Given the description of an element on the screen output the (x, y) to click on. 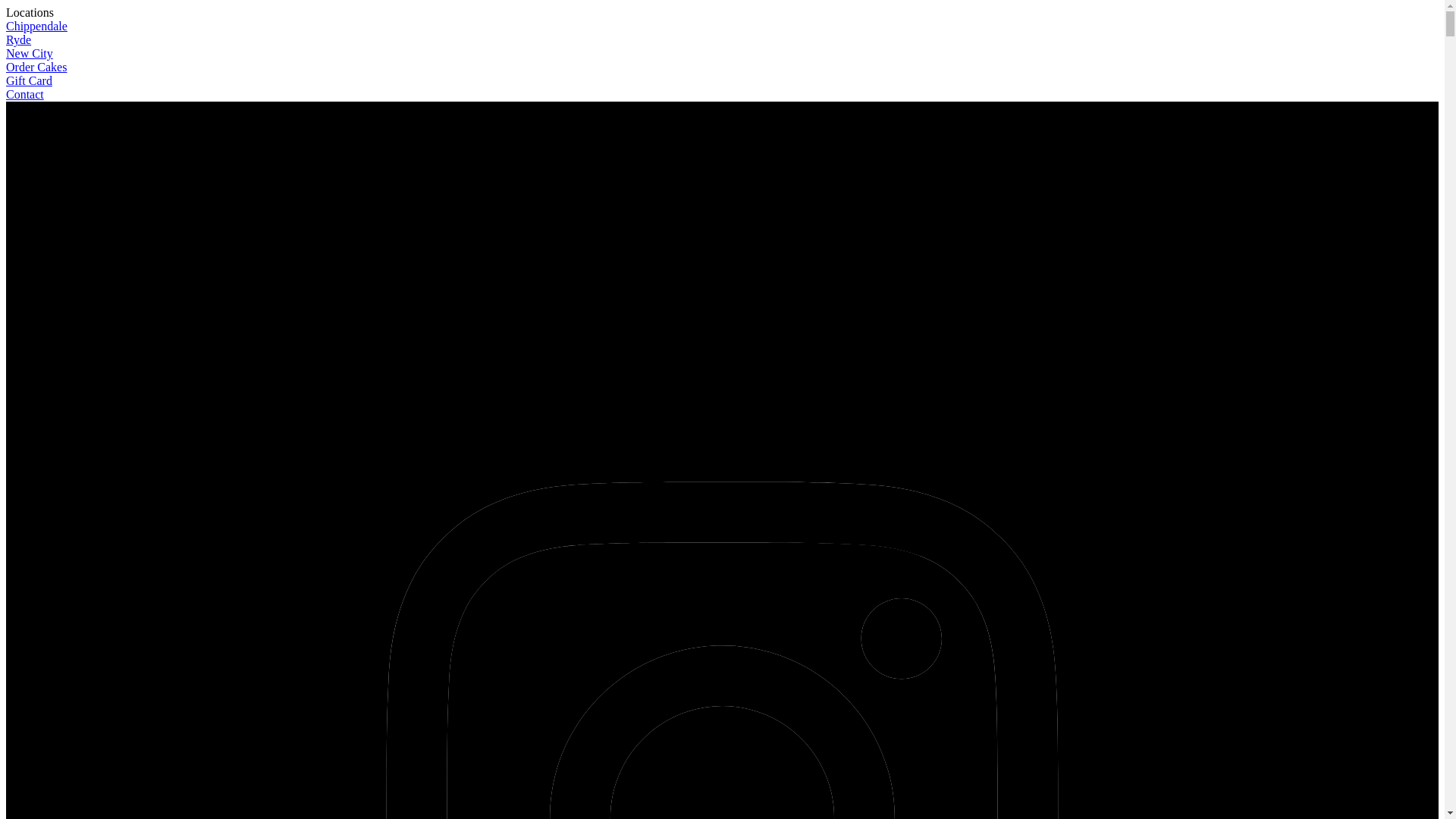
Contact Element type: text (24, 93)
Locations Element type: text (29, 12)
Order Cakes Element type: text (36, 66)
Chippendale Element type: text (36, 25)
Ryde Element type: text (18, 39)
Gift Card Element type: text (29, 80)
New City Element type: text (29, 53)
